Given the description of an element on the screen output the (x, y) to click on. 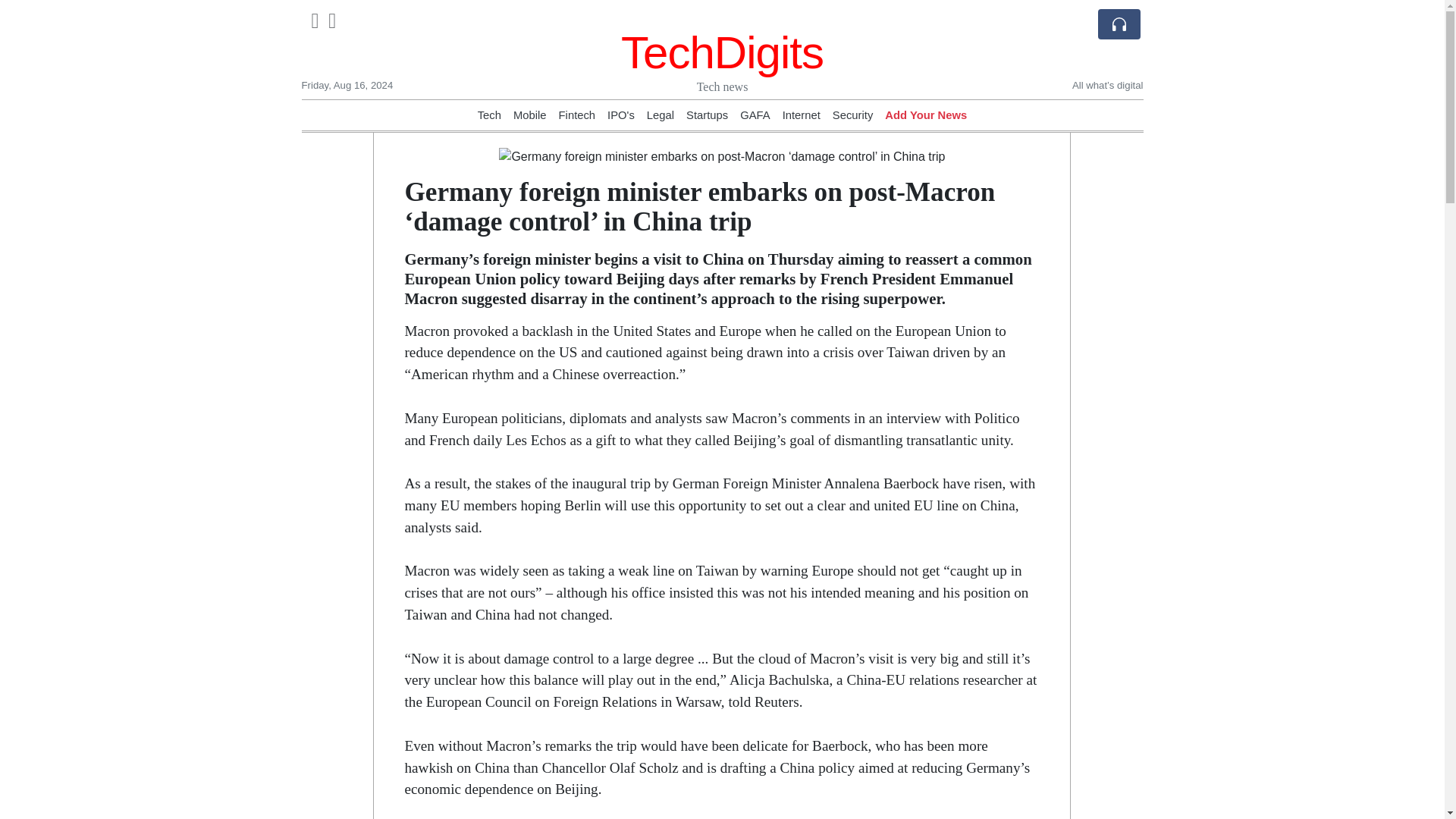
TechDigits (722, 52)
Tech (488, 114)
IPO's (620, 114)
Add Your News (925, 114)
Internet (802, 114)
Security (852, 114)
Legal (660, 114)
GAFA (754, 114)
Fintech (577, 114)
Startups (706, 114)
